Given the description of an element on the screen output the (x, y) to click on. 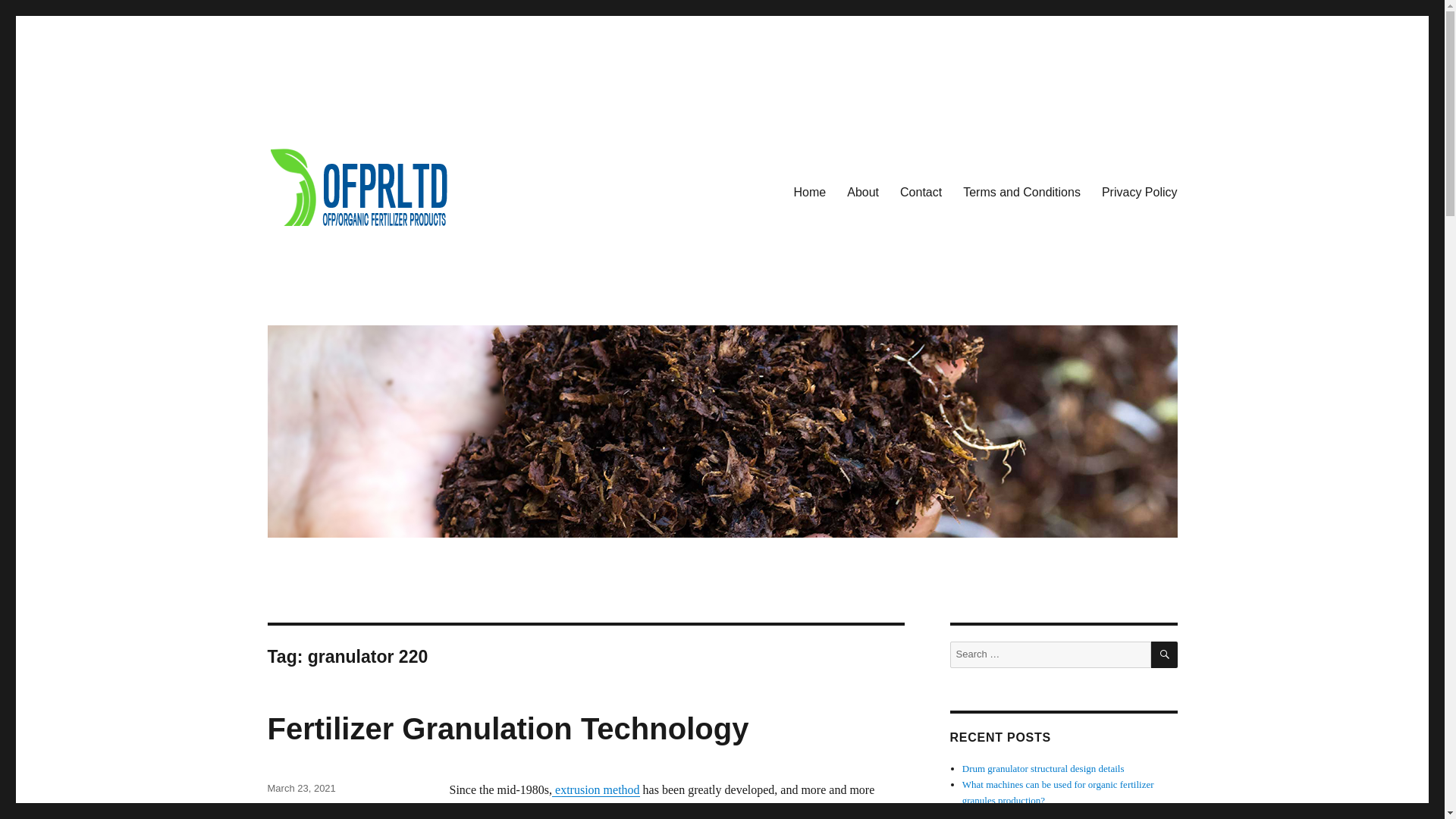
Home (810, 192)
Fertilizer Granulation Technology (507, 728)
Terms and Conditions (1021, 192)
Organic Fertilizer Products (402, 306)
March 23, 2021 (300, 787)
About (862, 192)
Privacy Policy (1139, 192)
Equipment (290, 808)
Fertilizer from Manure (323, 811)
Contact (920, 192)
extrusion method (595, 789)
